Given the description of an element on the screen output the (x, y) to click on. 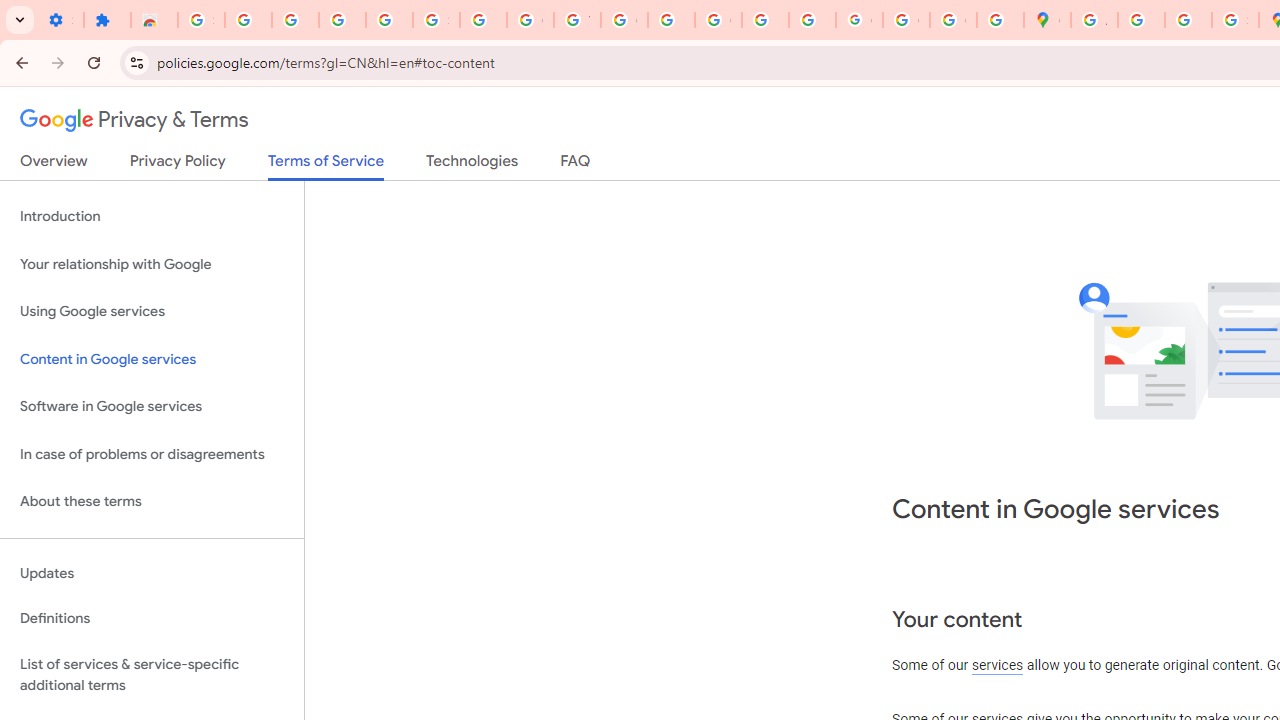
Delete photos & videos - Computer - Google Photos Help (294, 20)
